Given the description of an element on the screen output the (x, y) to click on. 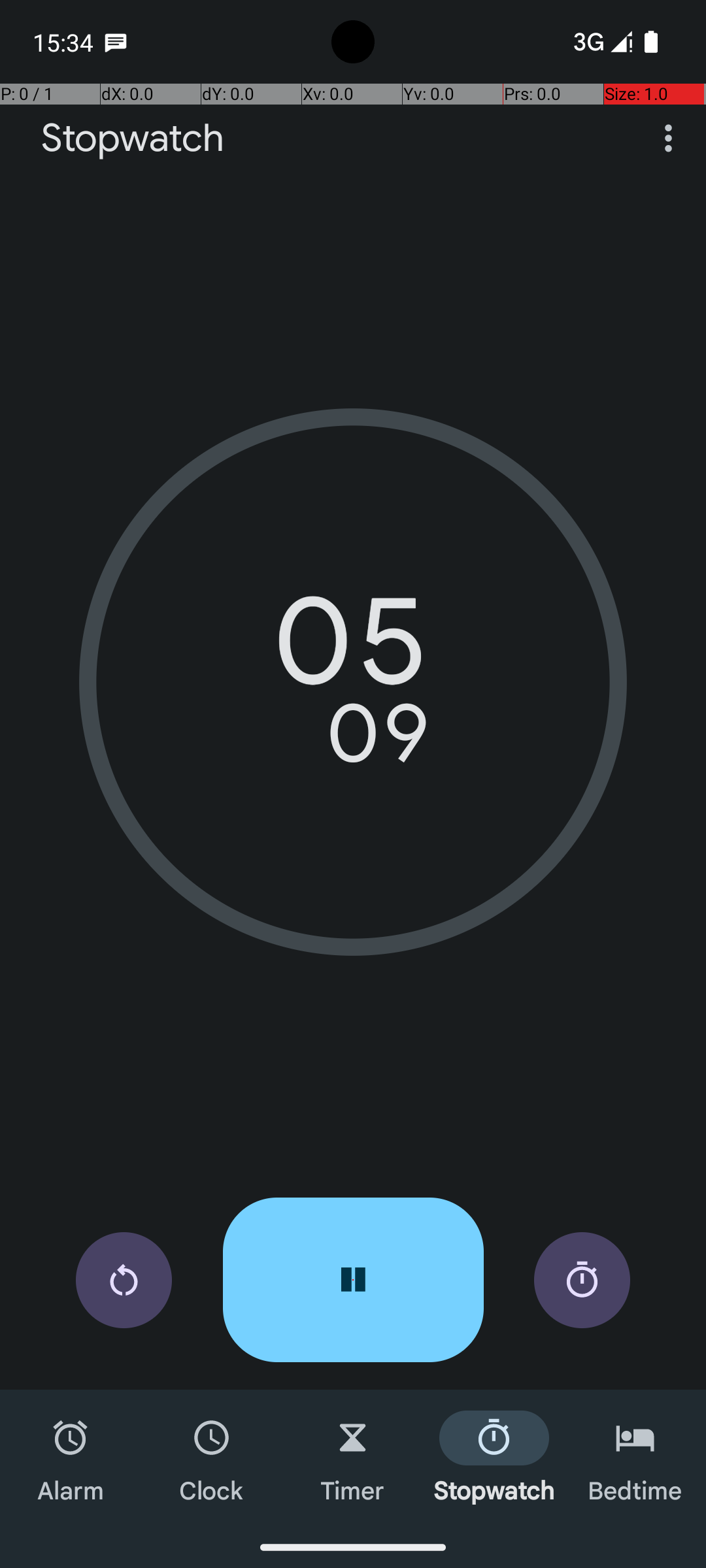
Pause Element type: android.widget.Button (352, 1279)
Lap Element type: android.widget.ImageButton (582, 1280)
00 Element type: android.widget.TextView (352, 650)
